Given the description of an element on the screen output the (x, y) to click on. 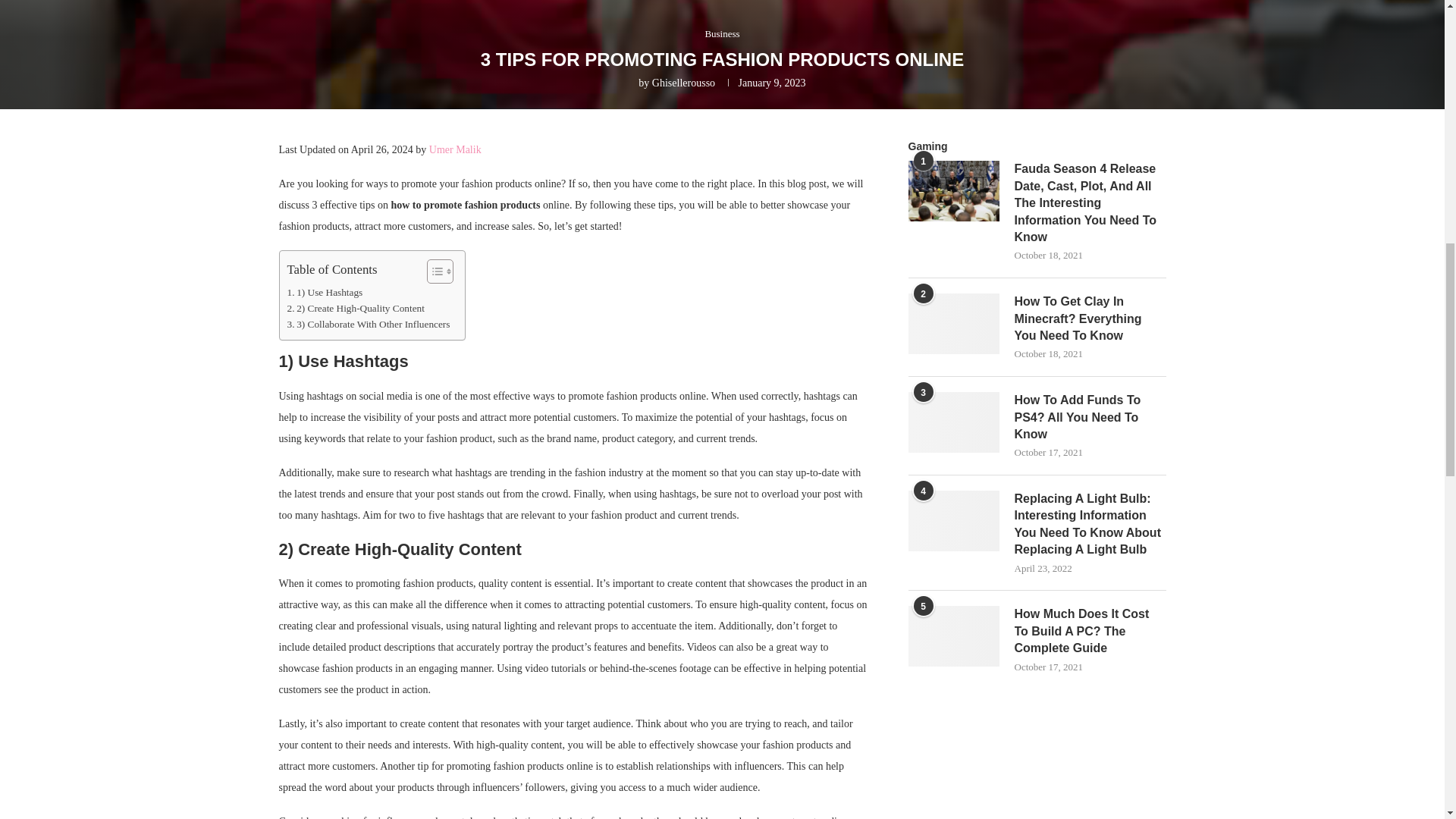
Business (721, 33)
